Given the description of an element on the screen output the (x, y) to click on. 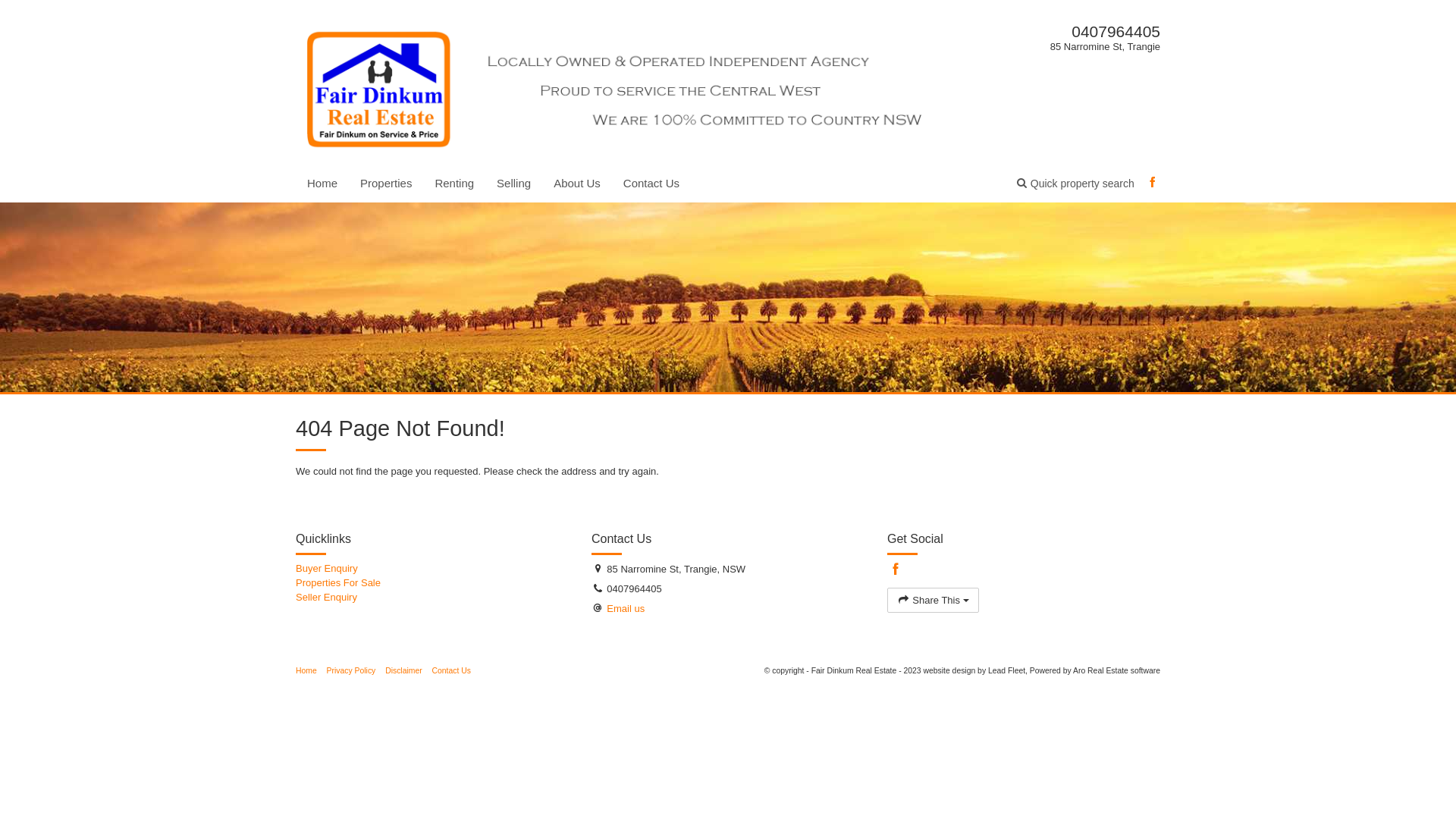
Quick property search Element type: text (1075, 182)
Privacy Policy Element type: text (351, 670)
About Us Element type: text (576, 182)
Email us Element type: text (625, 607)
Contact Us Element type: text (650, 182)
Aro Real Estate software Element type: text (1116, 670)
Disclaimer Element type: text (403, 670)
Buyer Enquiry Element type: text (431, 568)
Fair Dinkum Real Estate Element type: hover (622, 86)
Share This Element type: text (933, 600)
Seller Enquiry Element type: text (431, 596)
Selling Element type: text (513, 182)
Home Element type: text (321, 182)
Home Element type: text (305, 670)
Properties Element type: text (385, 182)
Renting Element type: text (454, 182)
Contact Us Element type: text (451, 670)
Lead Fleet Element type: text (1006, 670)
Properties For Sale Element type: text (431, 583)
